Given the description of an element on the screen output the (x, y) to click on. 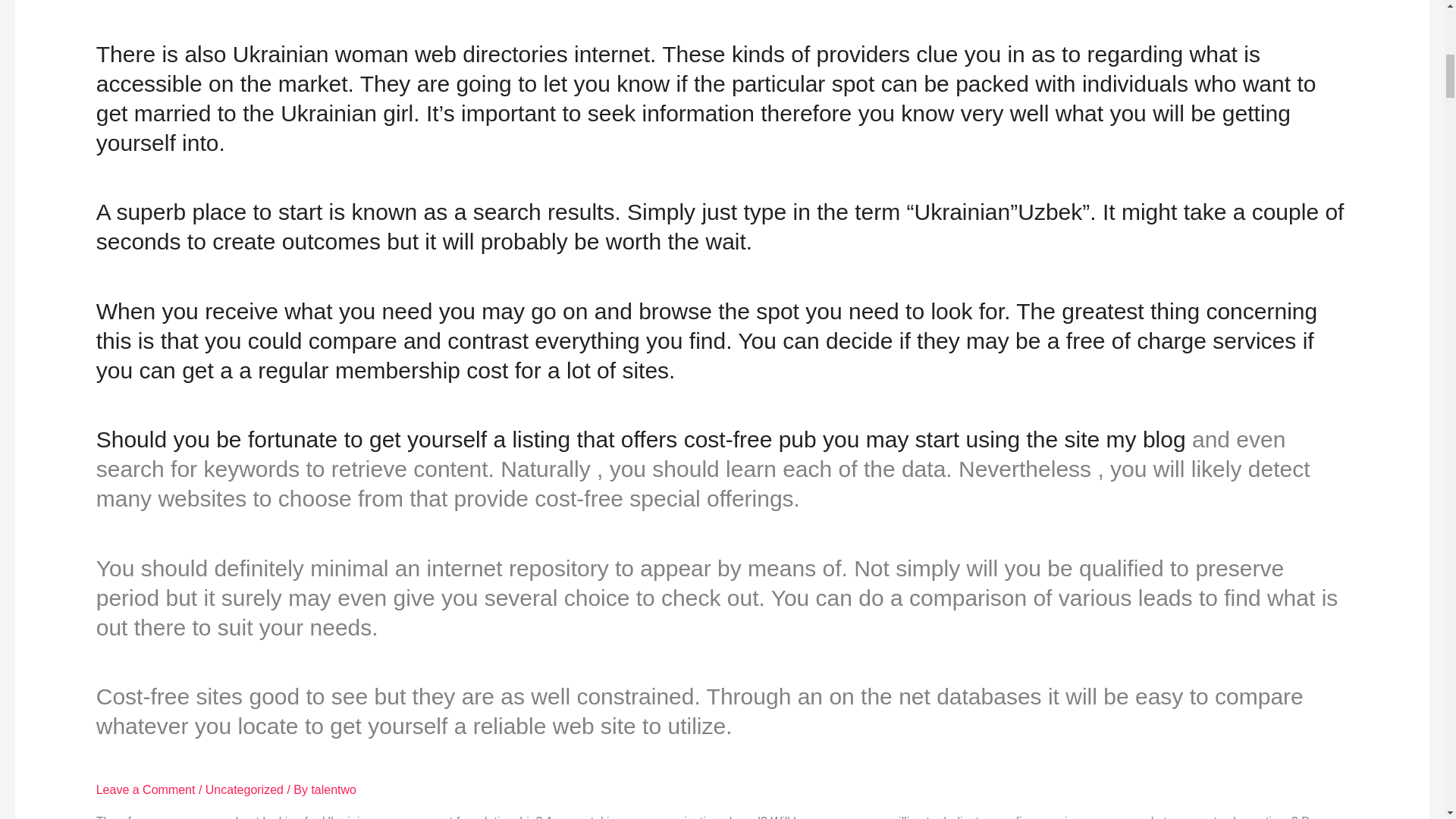
View all posts by talentwo (333, 789)
Leave a Comment (145, 789)
talentwo (333, 789)
Uncategorized (244, 789)
my blog (1146, 439)
